Given the description of an element on the screen output the (x, y) to click on. 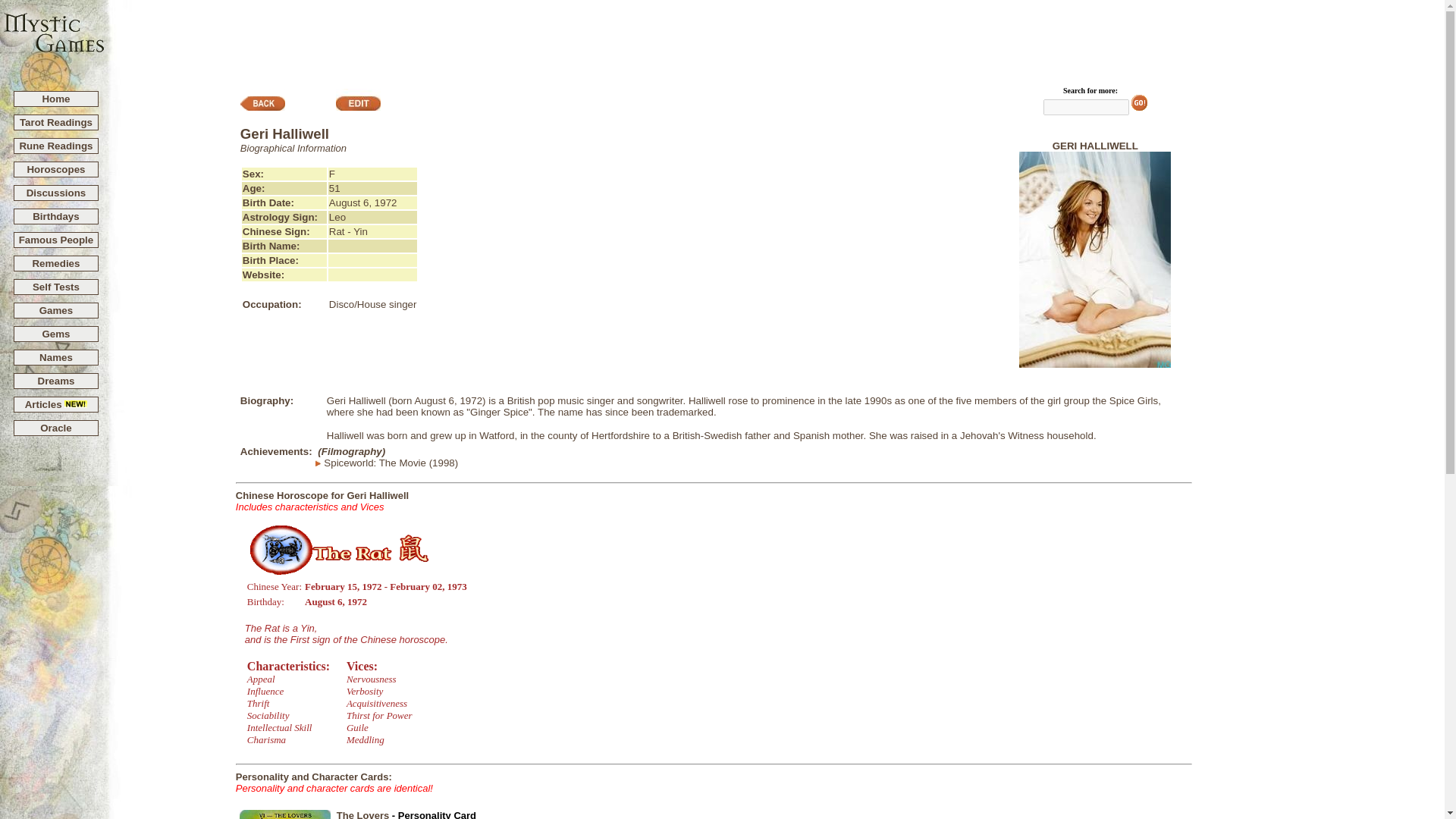
Rune Readings (55, 145)
Tarot Readings (56, 122)
Self Tests (56, 286)
The Lovers (362, 814)
Oracle (55, 428)
Discussions (55, 193)
Home (55, 98)
Go (1139, 102)
Names (55, 357)
Gems (55, 333)
Remedies (56, 263)
Dreams (56, 380)
Famous People (56, 239)
Games (55, 310)
Articles (55, 404)
